Given the description of an element on the screen output the (x, y) to click on. 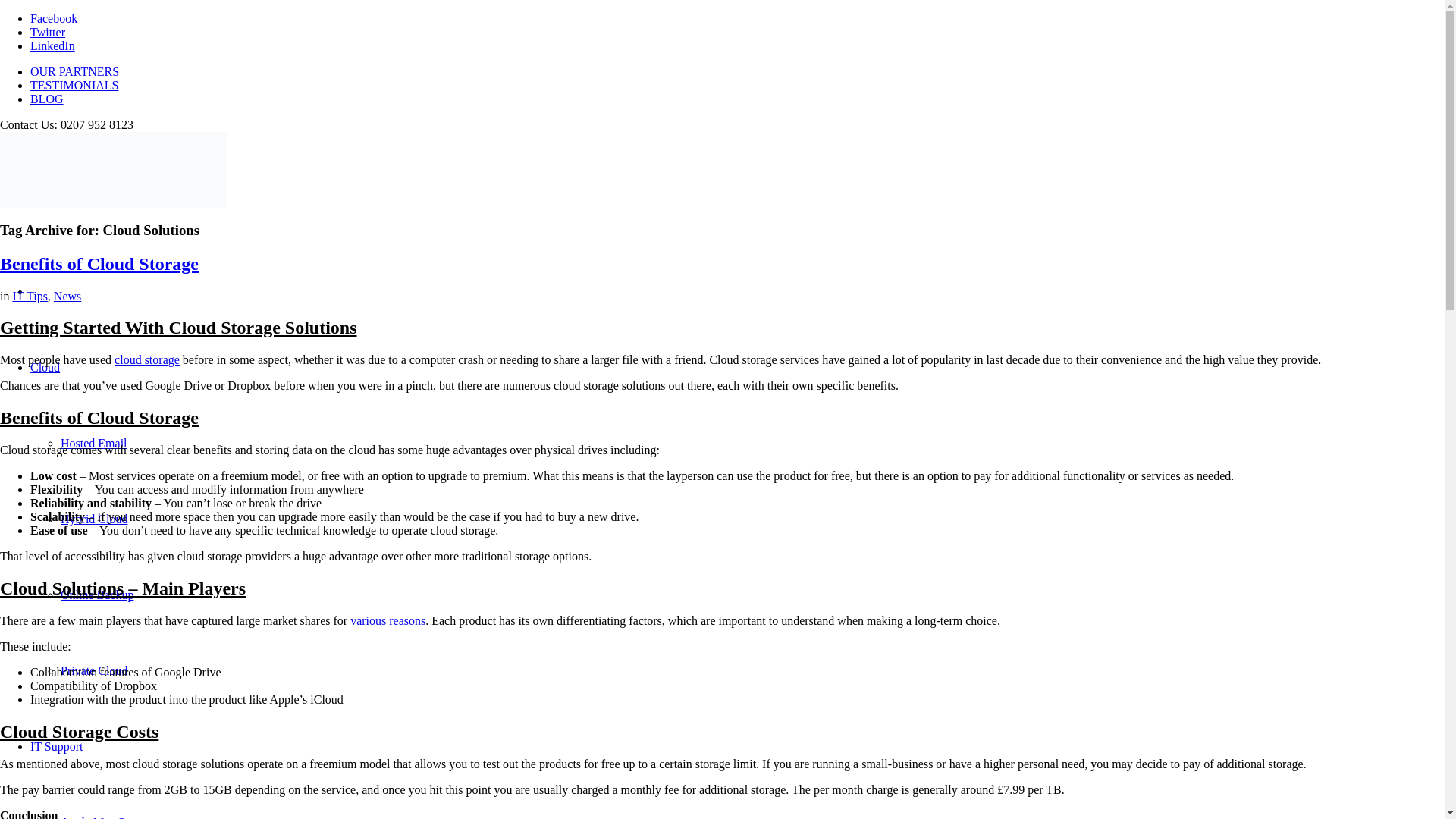
Hosted Email (94, 442)
OUR PARTNERS (74, 71)
Cloud (44, 367)
various reasons (387, 620)
BLOG (47, 98)
Facebook (53, 18)
Apple Mac Support (108, 817)
cloud storage (147, 359)
Hybrid Cloud (94, 518)
Private Cloud (94, 670)
LinkedIn (52, 45)
TESTIMONIALS (73, 84)
News (67, 295)
Facebook (53, 18)
Benefits of Cloud Storage (99, 263)
